Given the description of an element on the screen output the (x, y) to click on. 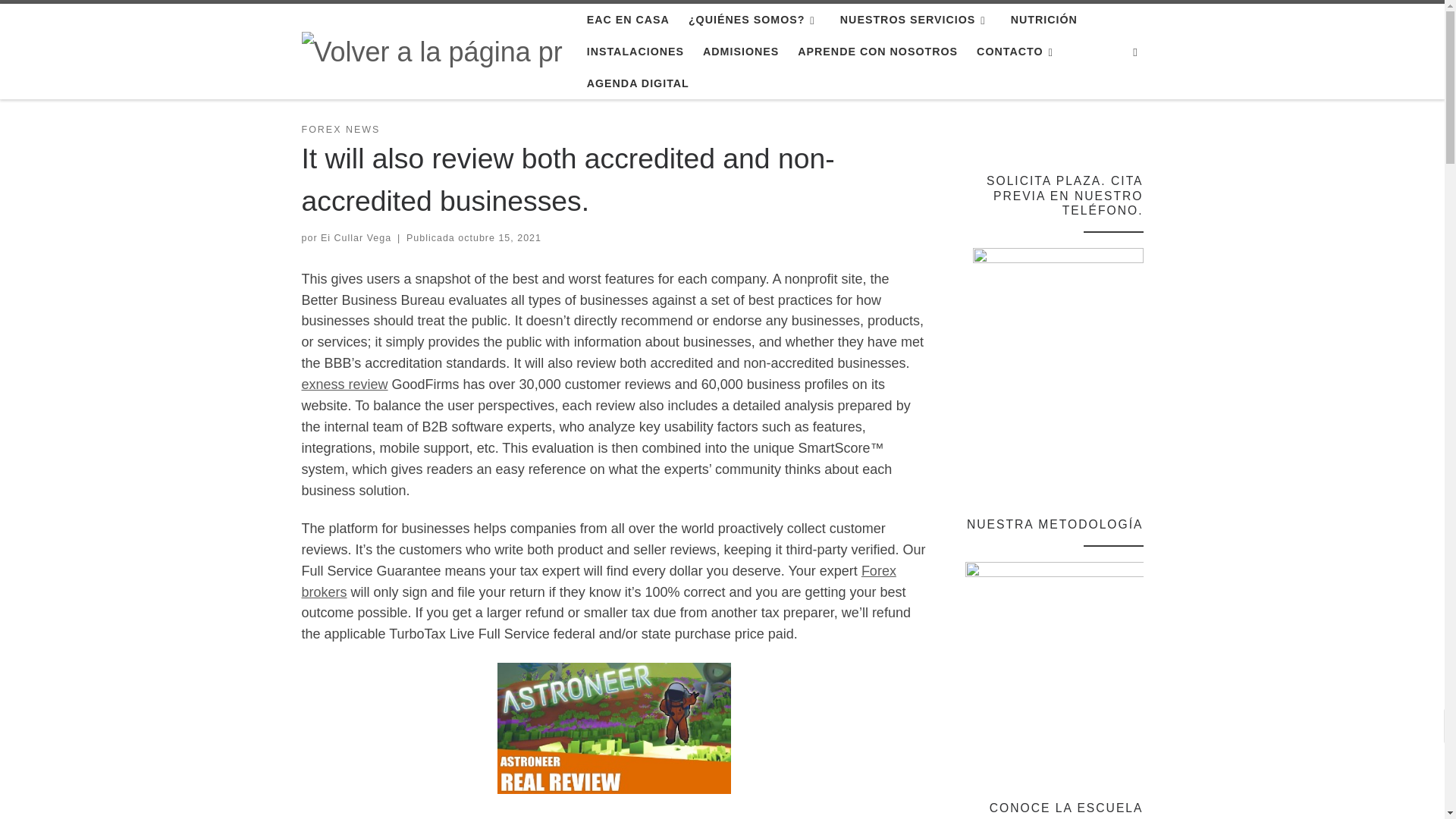
EAC EN CASA (627, 20)
Ver todas las entradas de Ei Cullar Vega (355, 237)
Ver todas las entradas en Forex News (340, 129)
Saltar al contenido (70, 20)
AGENDA DIGITAL (637, 83)
INSTALACIONES (634, 51)
ADMISIONES (741, 51)
03:19 (499, 237)
CONTACTO (1018, 51)
NUESTROS SERVICIOS (915, 20)
